Given the description of an element on the screen output the (x, y) to click on. 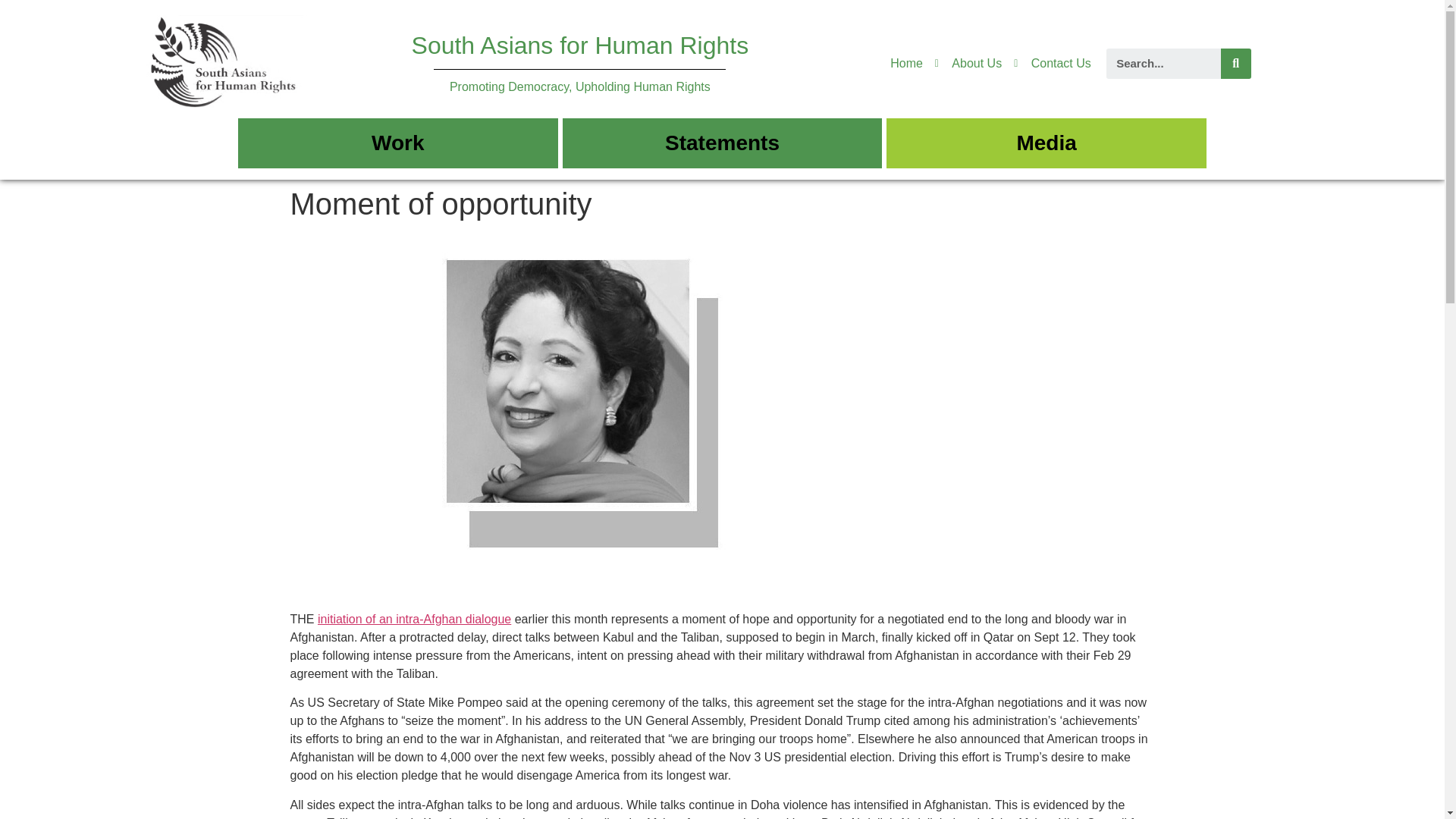
Search (1235, 63)
Home (906, 63)
Search (1163, 63)
About Us (967, 63)
Contact Us (1051, 63)
Statements (722, 143)
Work (398, 143)
